Given the description of an element on the screen output the (x, y) to click on. 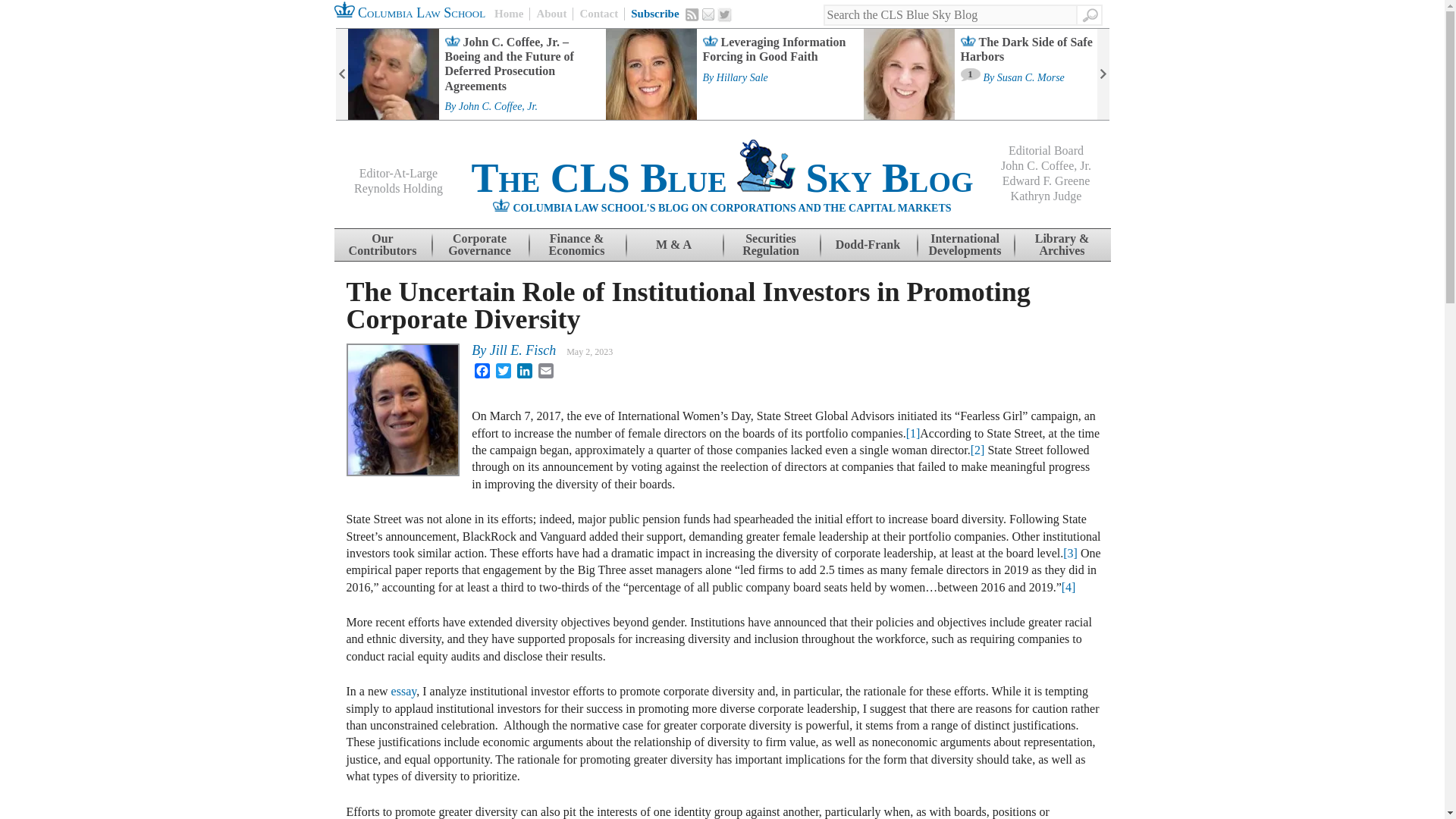
Email (707, 14)
Susan C. Morse (1030, 77)
About (550, 13)
Twitter (724, 14)
Reynolds Holding (397, 187)
John C. Coffee, Jr. (497, 106)
Subscribe (654, 13)
RSS (691, 14)
Hillary Sale (742, 77)
Posts by Hillary Sale (742, 77)
